Given the description of an element on the screen output the (x, y) to click on. 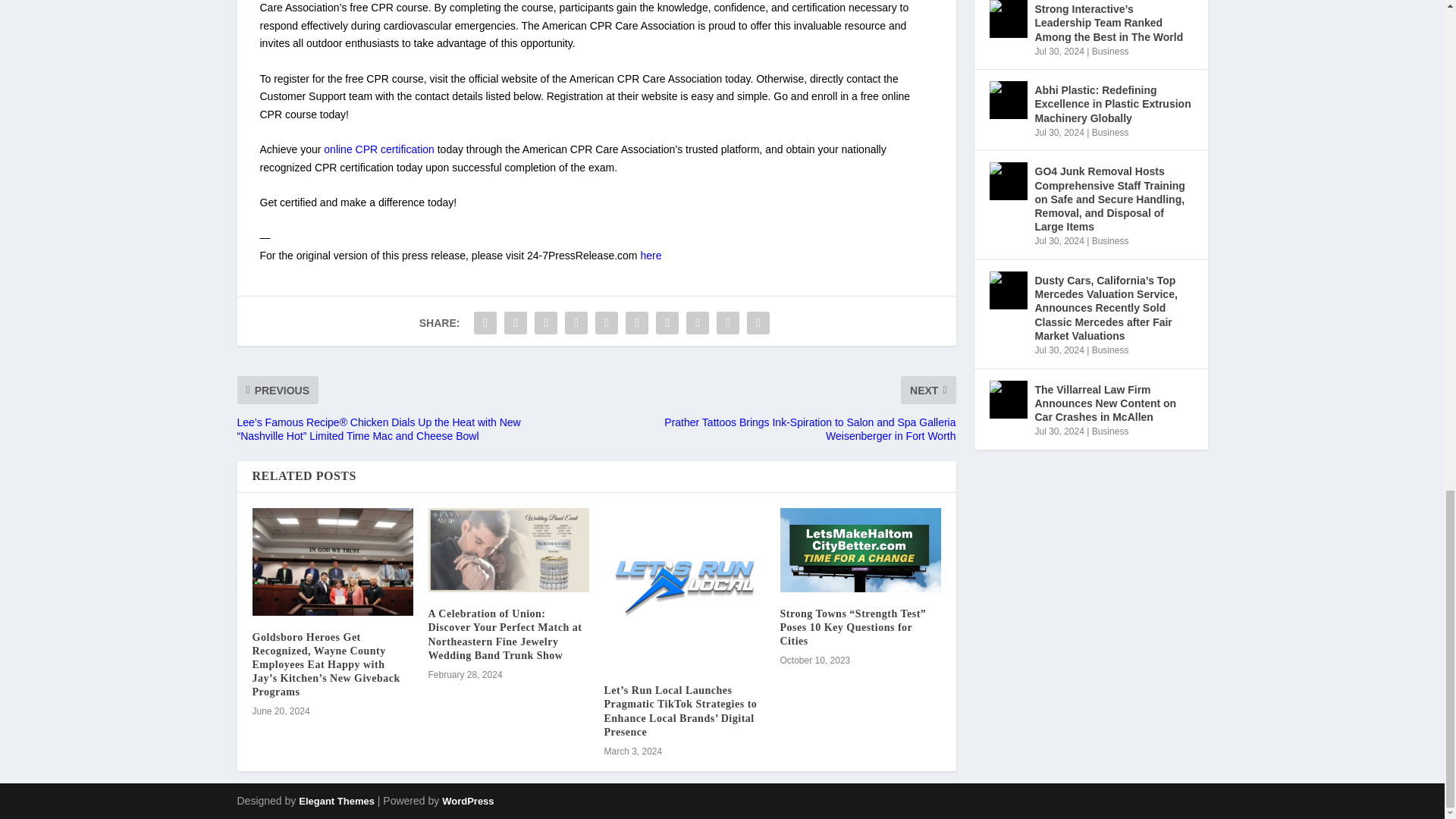
here (650, 255)
online CPR certification (378, 149)
